Given the description of an element on the screen output the (x, y) to click on. 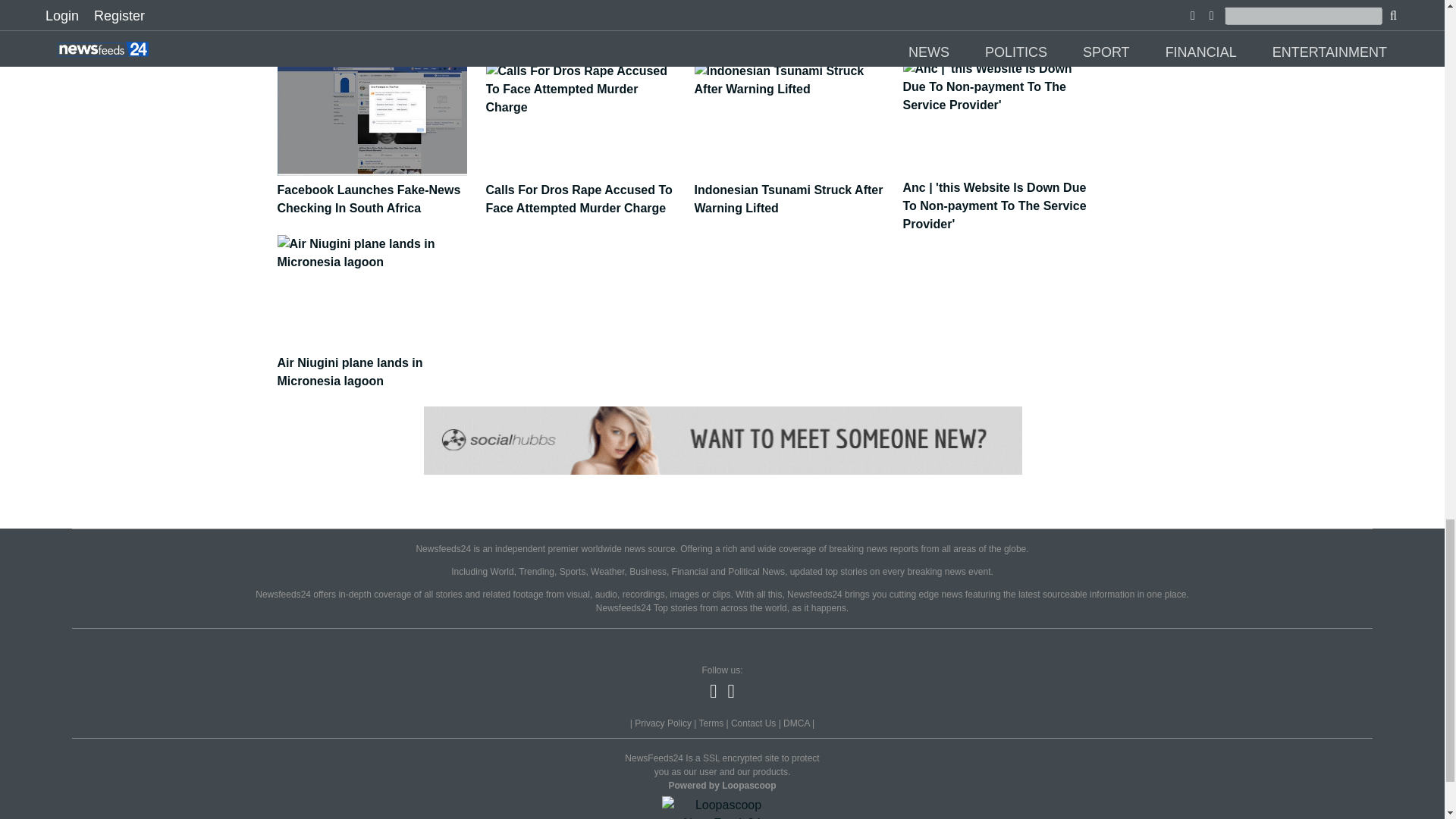
Air Niugini plane lands in Micronesia lagoon (377, 364)
Facebook Launches Fake-News Checking In South Africa (377, 191)
Indonesian Tsunami Struck After Warning Lifted (793, 191)
Calls For Dros Rape Accused To Face Attempted Murder Charge (584, 191)
Racial Abuse On Ryanair Flight (377, 12)
